Given the description of an element on the screen output the (x, y) to click on. 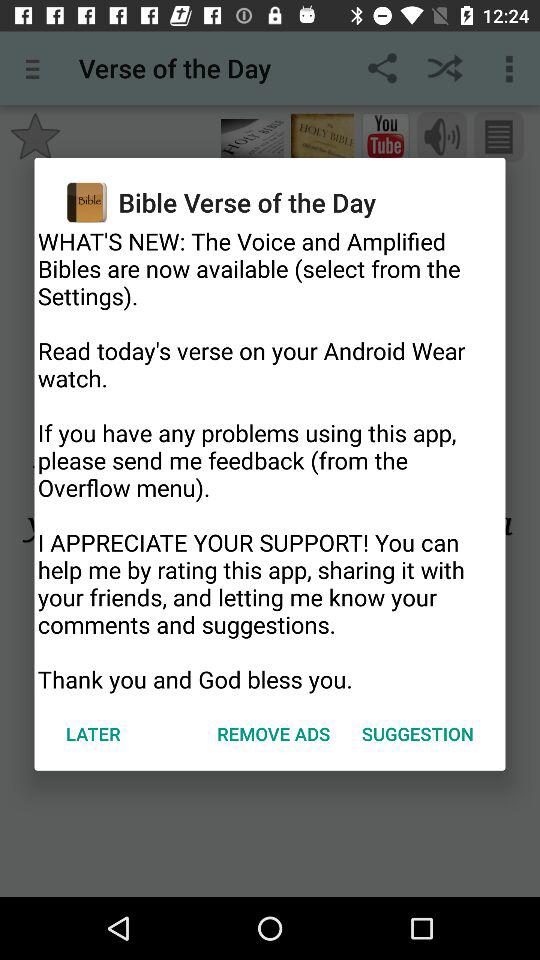
choose icon next to the later icon (273, 733)
